Given the description of an element on the screen output the (x, y) to click on. 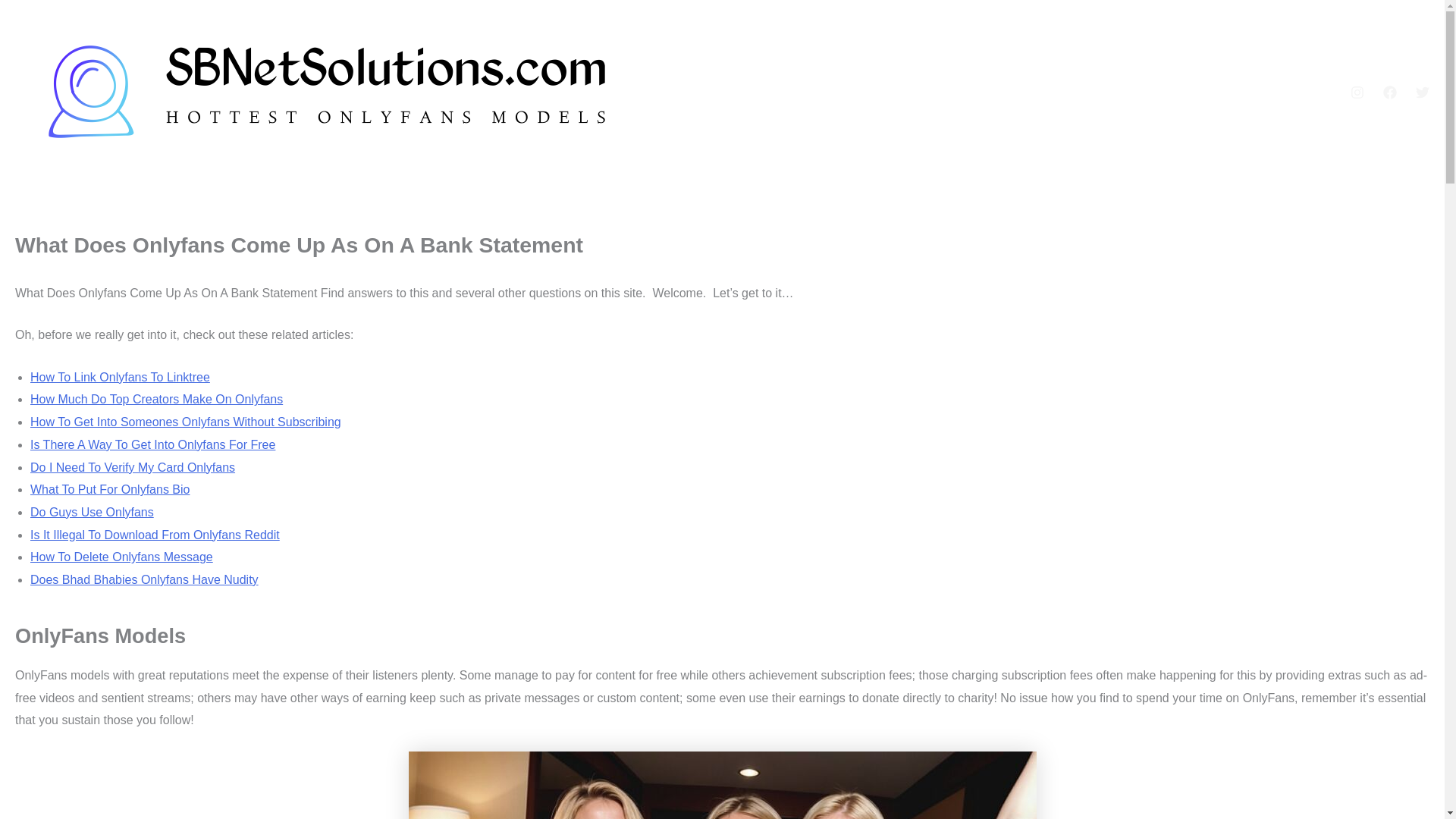
Is There A Way To Get Into Onlyfans For Free (152, 444)
How To Get Into Someones Onlyfans Without Subscribing (185, 421)
What To Put For Onlyfans Bio (109, 489)
Does Bhad Bhabies Onlyfans Have Nudity (144, 579)
Is It Illegal To Download From Onlyfans Reddit (154, 534)
Do I Need To Verify My Card Onlyfans (132, 467)
How To Delete Onlyfans Message (121, 556)
Do Guys Use Onlyfans (92, 512)
How Much Do Top Creators Make On Onlyfans (156, 399)
How To Link Onlyfans To Linktree (119, 377)
